Given the description of an element on the screen output the (x, y) to click on. 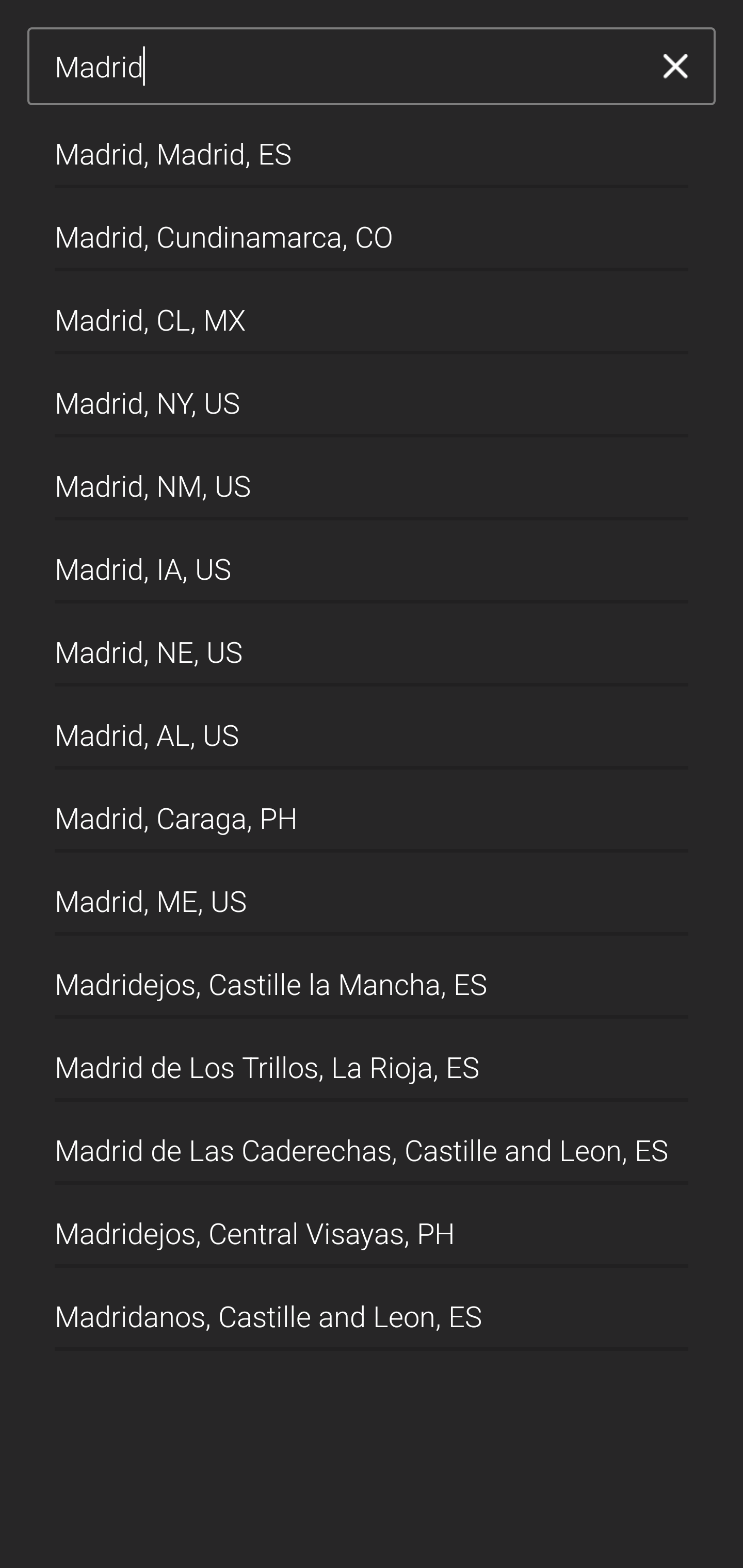
Madrid (345, 66)
Madrid, Madrid, ES (371, 146)
Madrid, Cundinamarca, CO (371, 229)
Madrid, CL, MX (371, 312)
Madrid, NY, US (371, 395)
Madrid, NM, US (371, 478)
Madrid, IA, US (371, 561)
Madrid, NE, US (371, 644)
Madrid, AL, US (371, 727)
Madrid, Caraga, PH (371, 810)
Madrid, ME, US (371, 894)
Madridejos, Castille la Mancha, ES (371, 977)
Madrid de Los Trillos, La Rioja, ES (371, 1060)
Madrid de Las Caderechas, Castille and Leon, ES (371, 1143)
Madridejos, Central Visayas, PH (371, 1226)
Madridanos, Castille and Leon, ES (371, 1309)
